Given the description of an element on the screen output the (x, y) to click on. 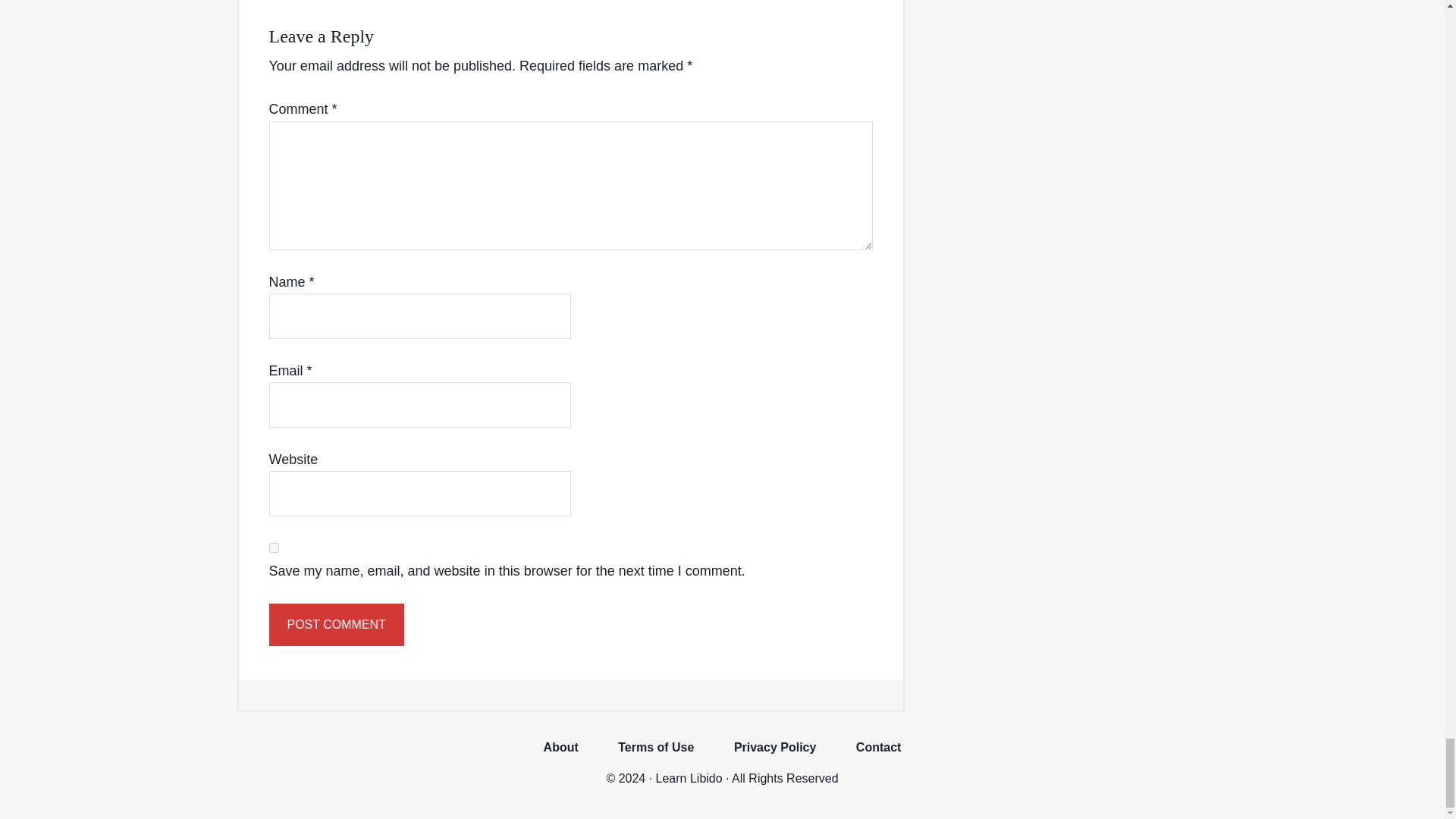
Privacy Policy (775, 755)
About (560, 755)
Terms of Use (655, 755)
Contact (879, 755)
yes (272, 547)
Post Comment (335, 624)
Post Comment (335, 624)
